Given the description of an element on the screen output the (x, y) to click on. 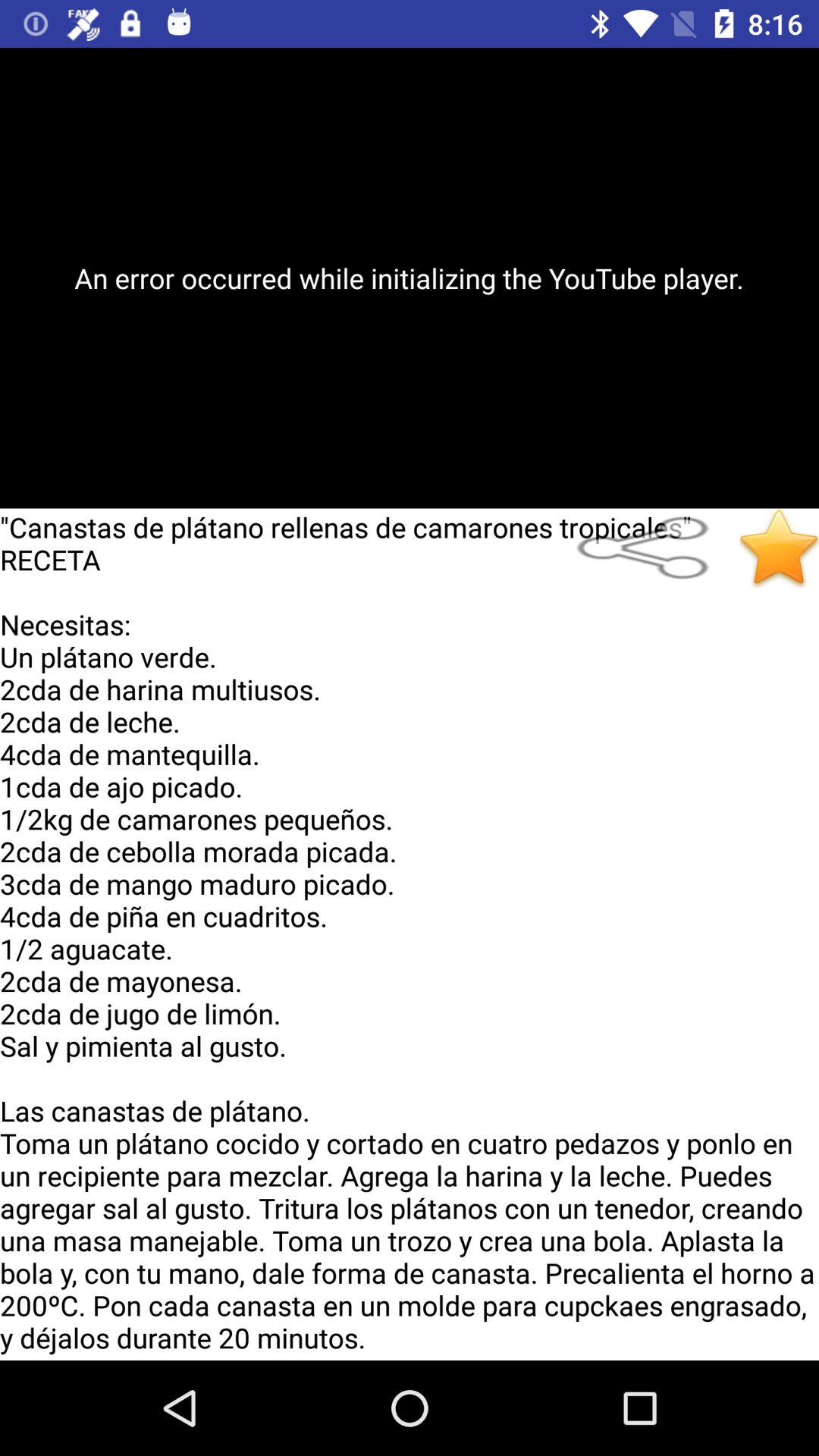
launch the item below an error occurred (779, 548)
